Given the description of an element on the screen output the (x, y) to click on. 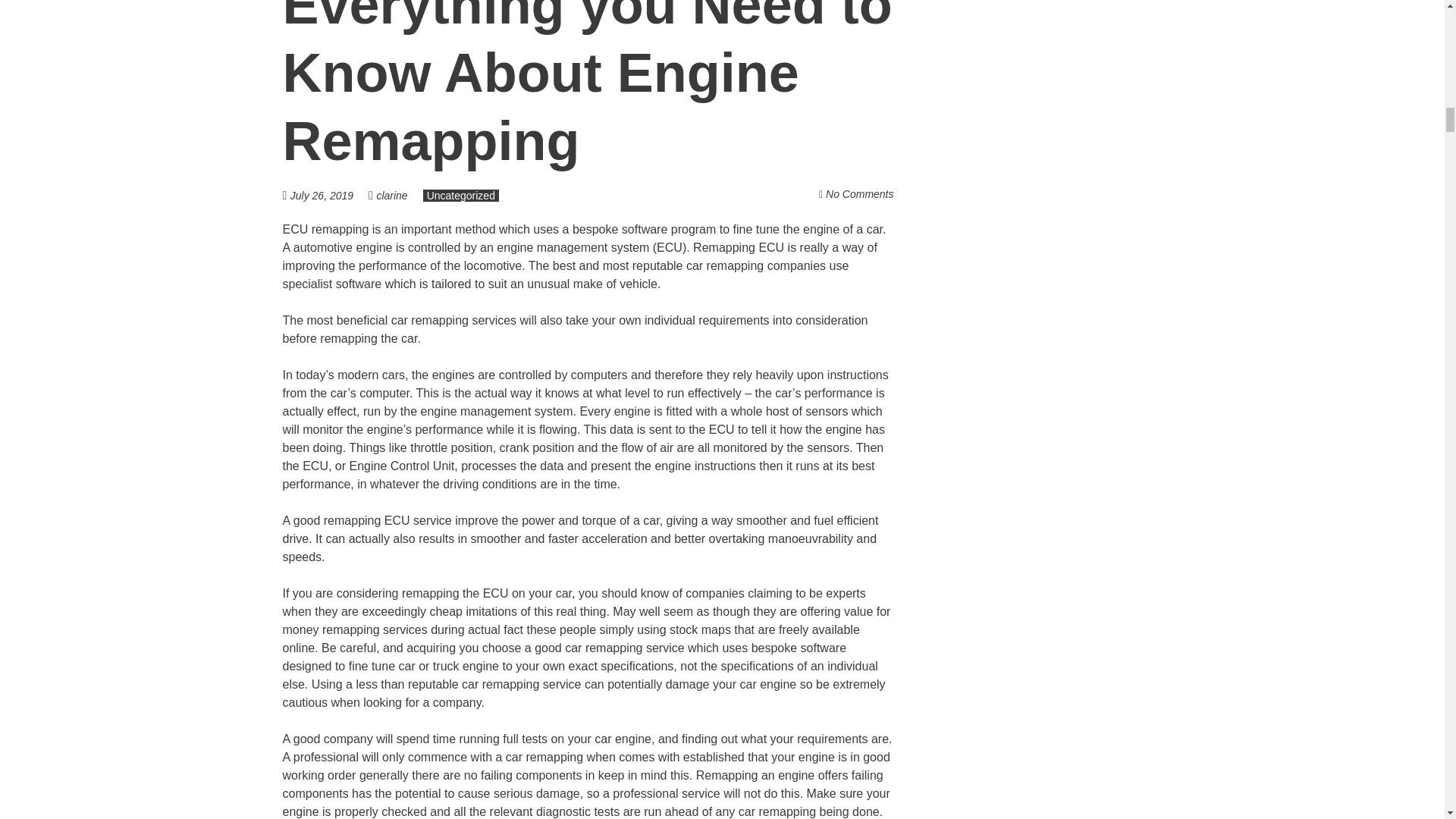
No Comments (859, 193)
July 26, 2019 (328, 195)
Uncategorized (461, 195)
clarine (391, 195)
Everything you Need to Know About Engine Remapping (586, 85)
